Given the description of an element on the screen output the (x, y) to click on. 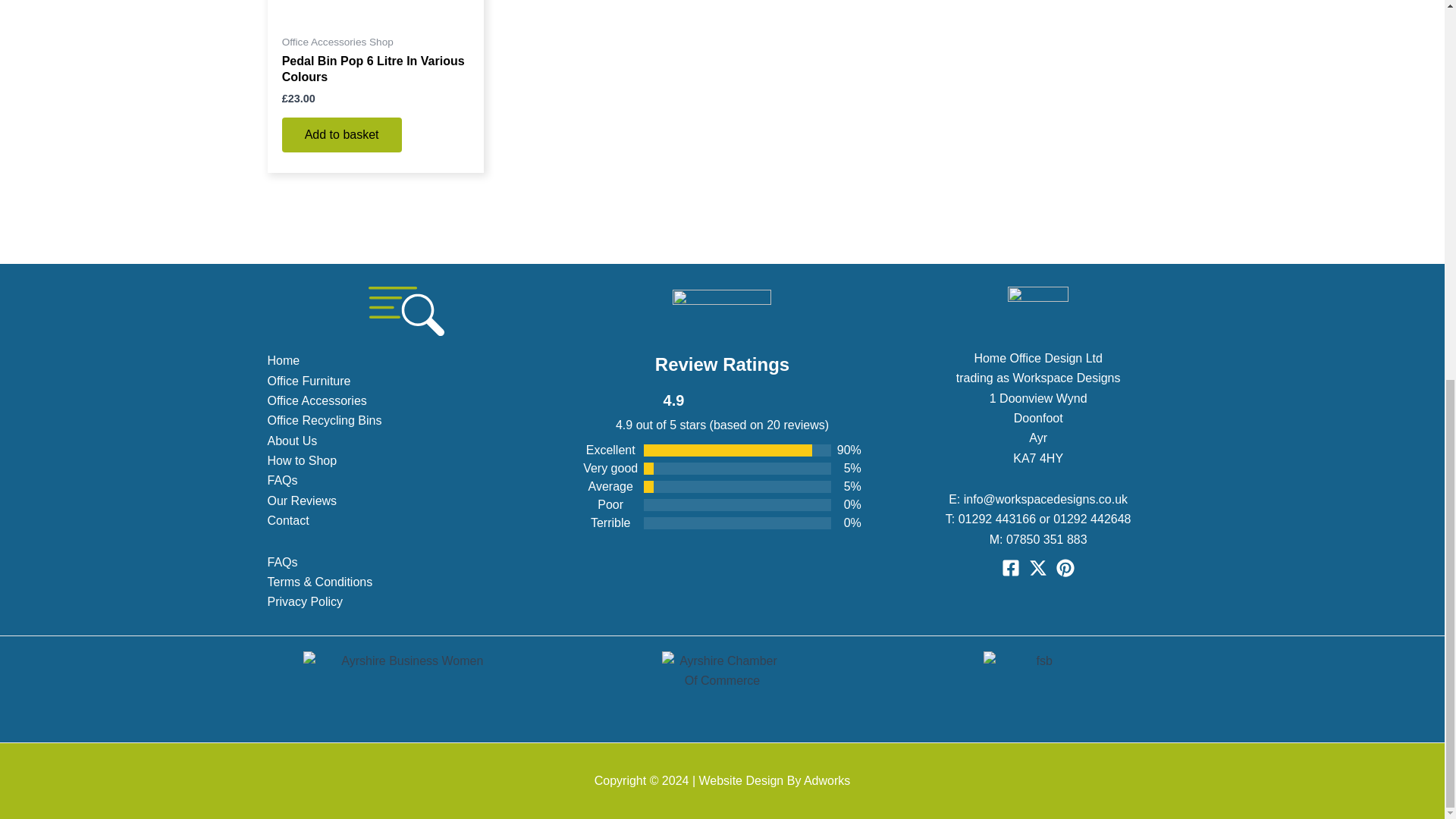
Add to basket (341, 134)
Pedal Bin Pop 6 Litre In Various Colours (375, 72)
